Given the description of an element on the screen output the (x, y) to click on. 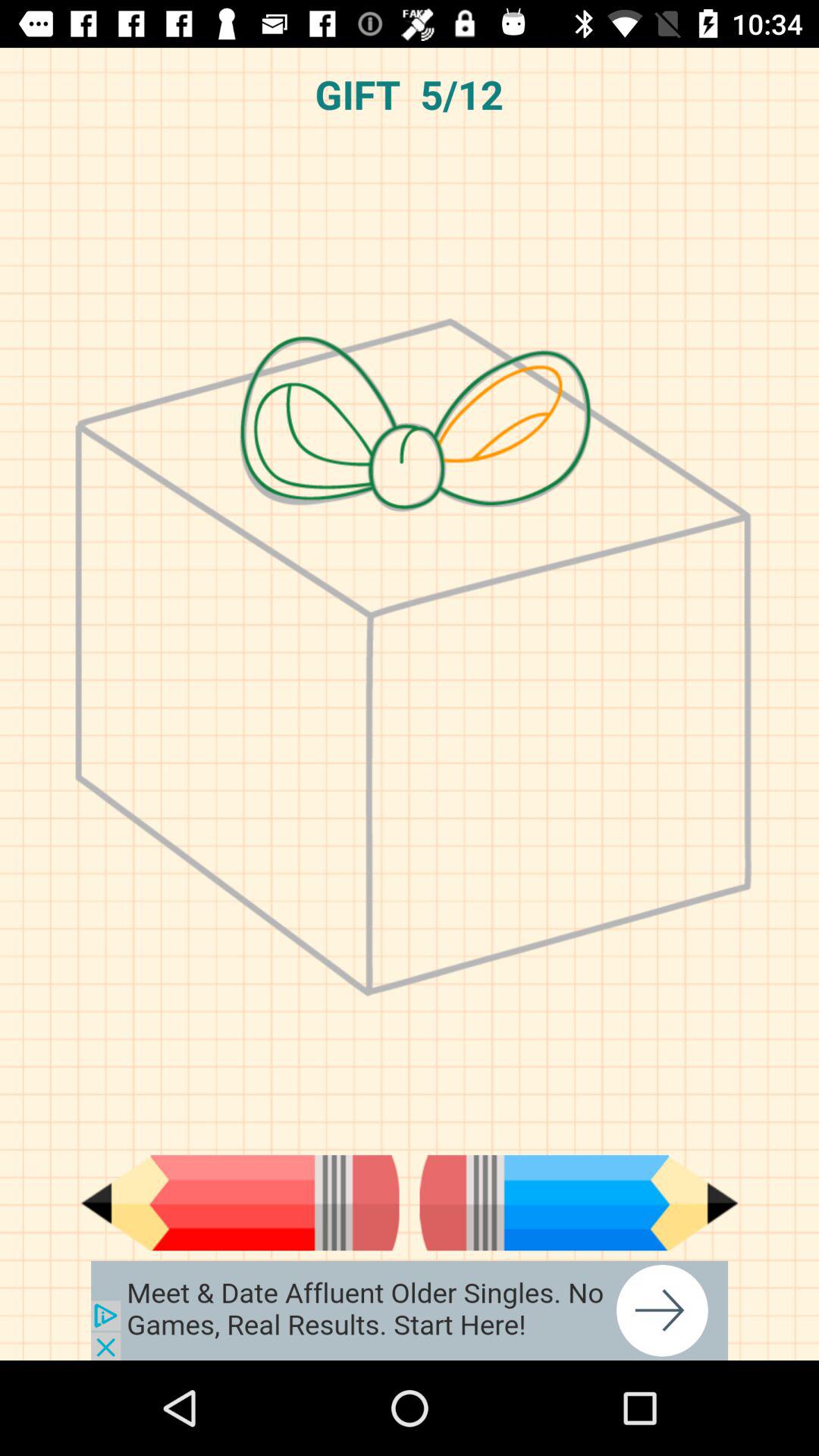
pencil used in text file (578, 1202)
